Given the description of an element on the screen output the (x, y) to click on. 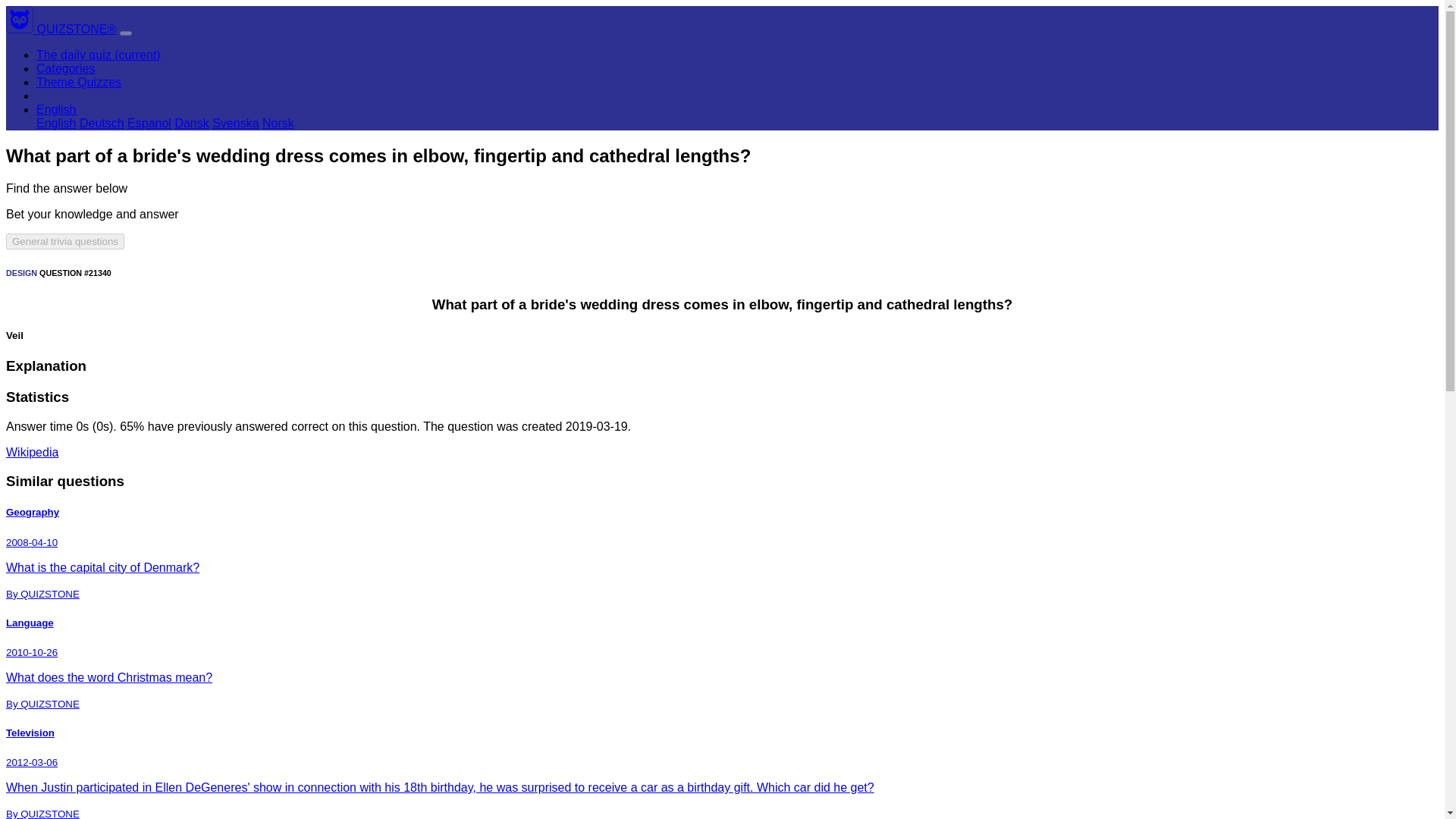
Categories (65, 68)
QUIZSTONE (20, 29)
English (55, 123)
Wikipedia (31, 451)
Dansk (191, 123)
English (55, 109)
Norsk (278, 123)
Espanol (149, 123)
QUIZSTONE (19, 19)
Theme Quizzes (78, 82)
Deutsch (101, 123)
General trivia questions (64, 241)
Svenska (235, 123)
